Given the description of an element on the screen output the (x, y) to click on. 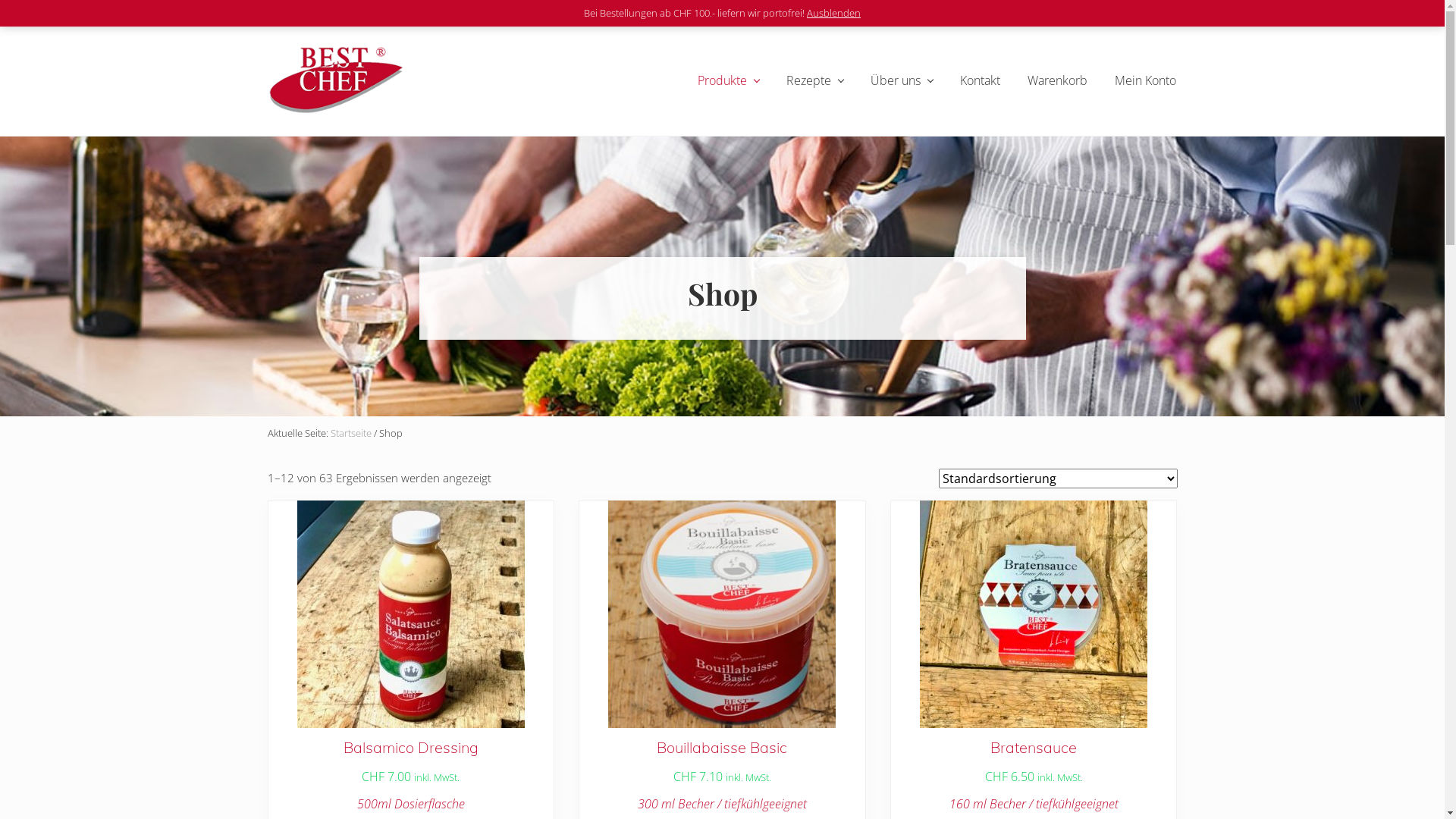
Warenkorb Element type: text (1056, 80)
Facebook Element type: text (1126, 11)
Instagram Element type: text (1153, 11)
Produkte Element type: text (728, 80)
Mein Konto Element type: text (1145, 80)
YouTube Element type: text (1181, 11)
Startseite Element type: text (350, 432)
Rezepte Element type: text (813, 80)
Ausblenden Element type: text (833, 12)
Skip to right header navigation Element type: text (0, 0)
Kontakt Element type: text (979, 80)
